Given the description of an element on the screen output the (x, y) to click on. 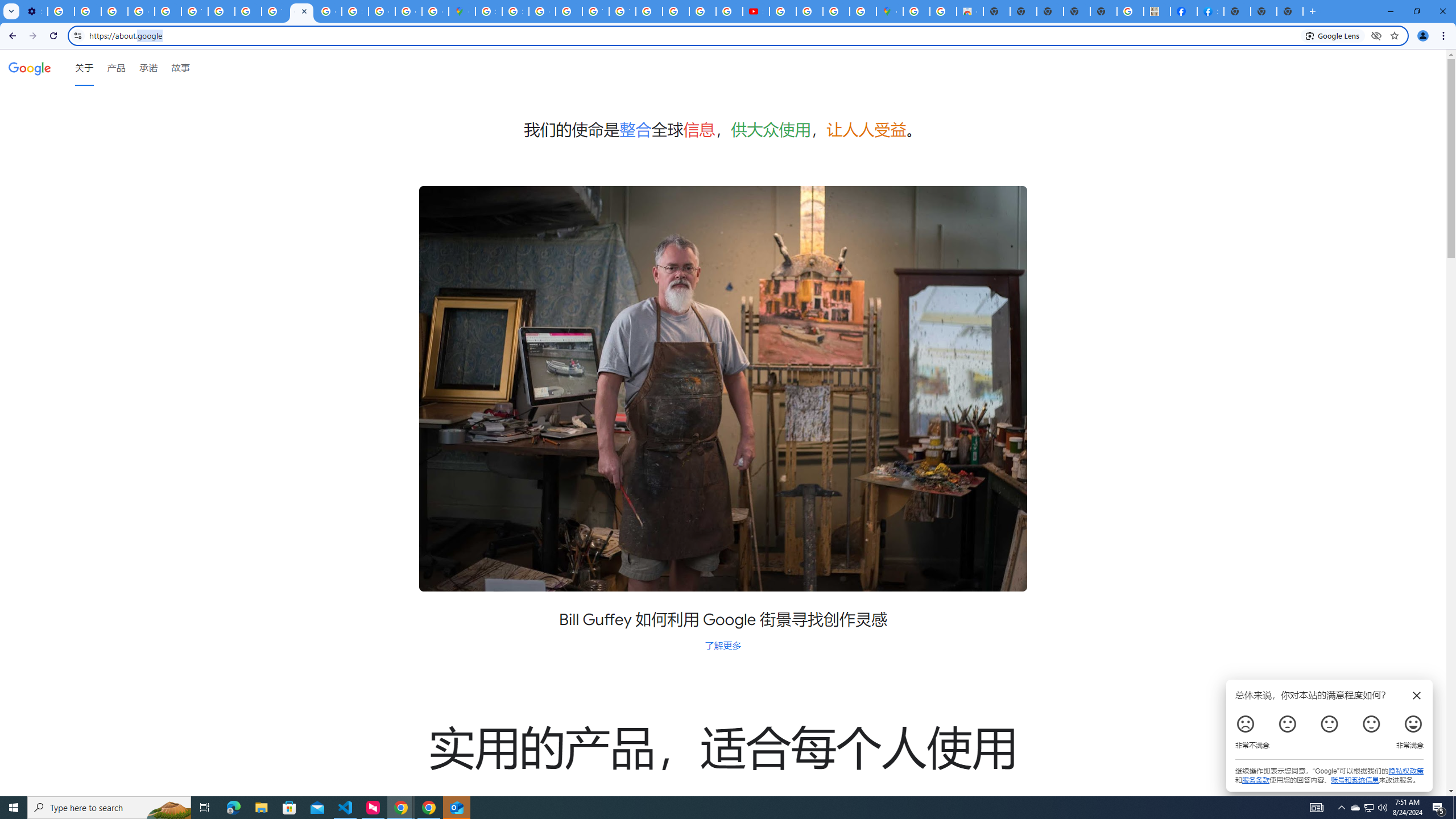
Privacy Help Center - Policies Help (248, 11)
Sign in - Google Accounts (515, 11)
Miley Cyrus | Facebook (1183, 11)
